Given the description of an element on the screen output the (x, y) to click on. 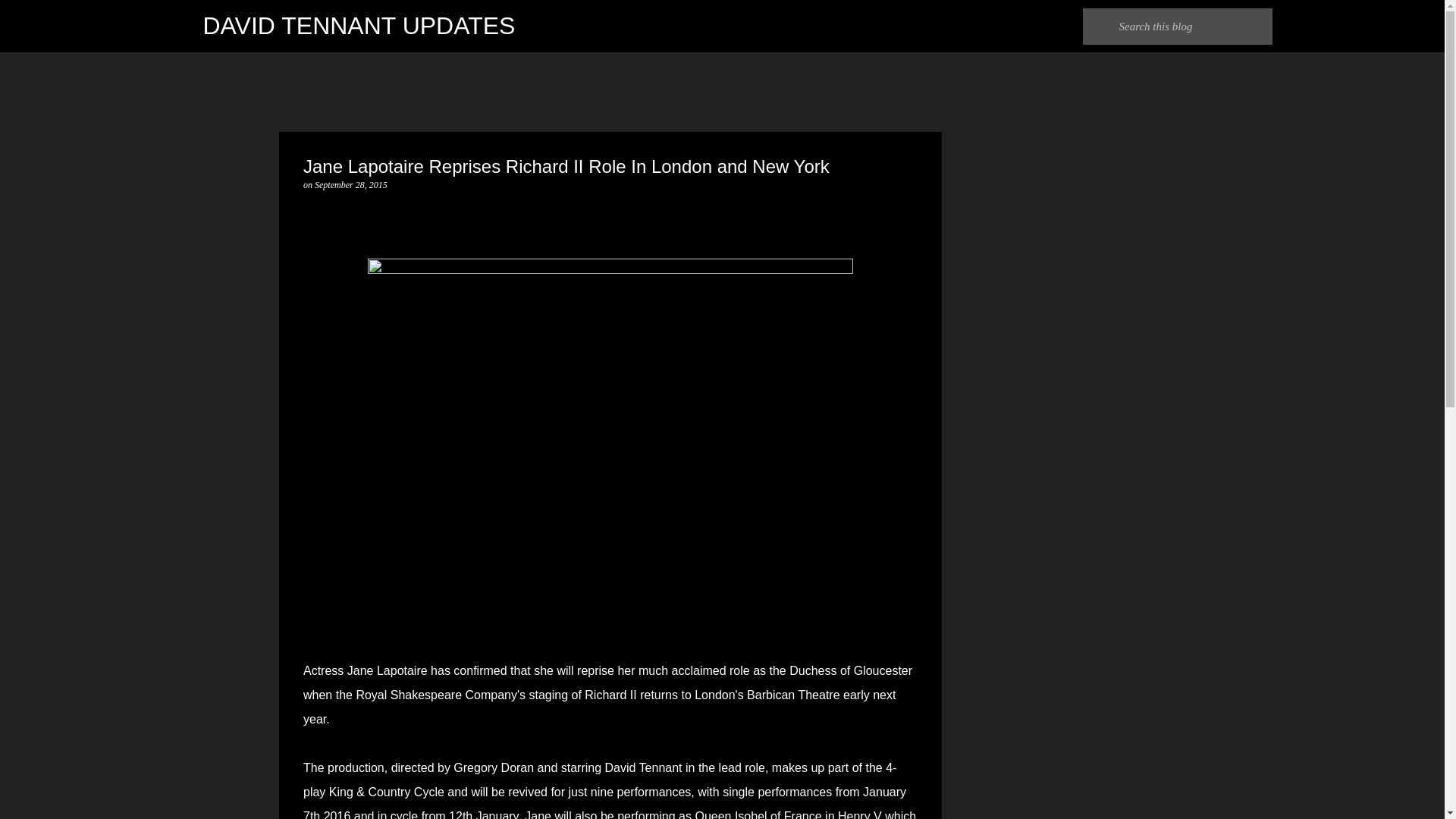
DAVID TENNANT UPDATES (359, 25)
permanent link (350, 184)
September 28, 2015 (350, 184)
